Given the description of an element on the screen output the (x, y) to click on. 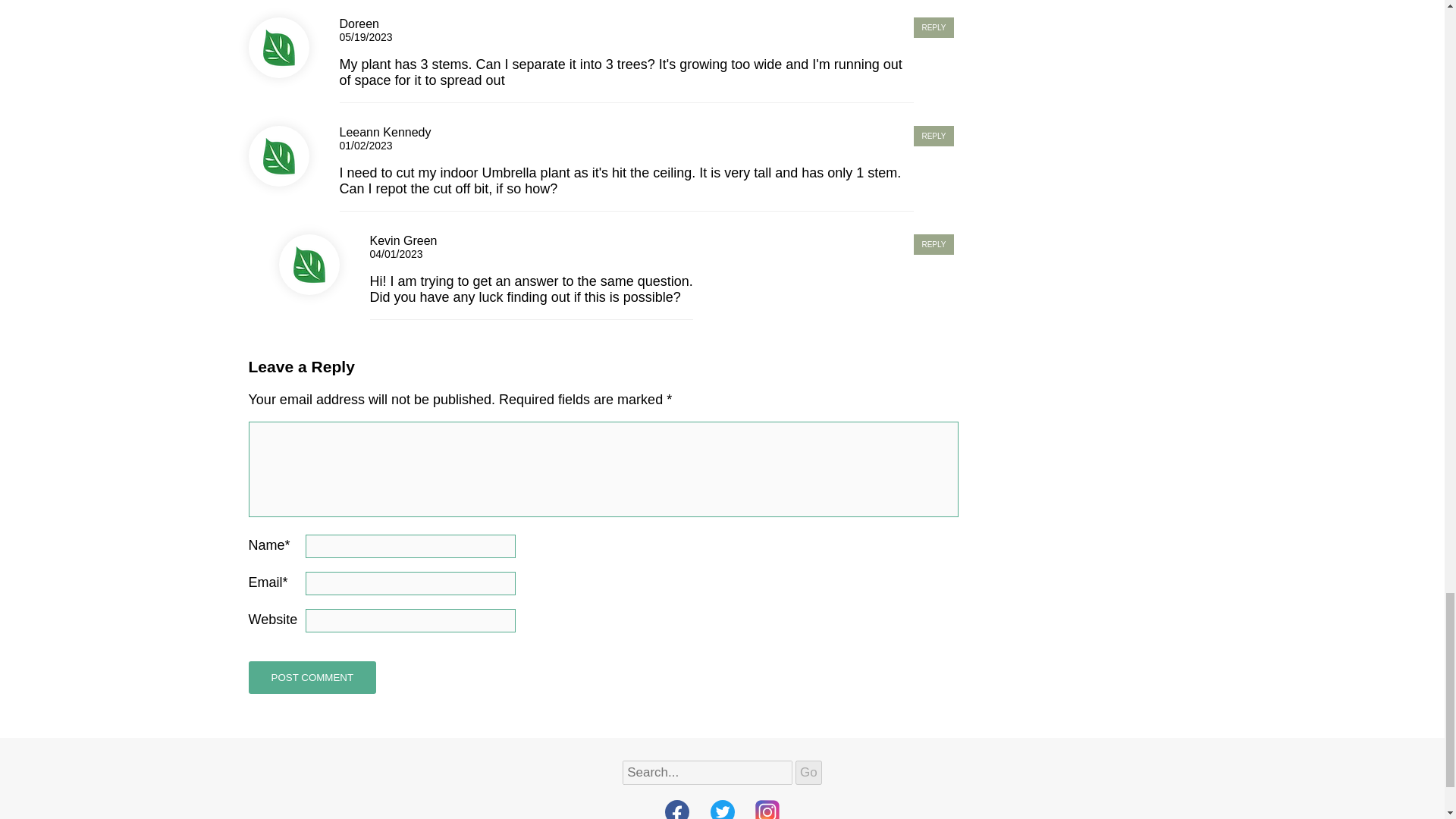
3 characters minimum (707, 772)
POST COMMENT (312, 676)
Go (808, 772)
REPLY (933, 136)
REPLY (933, 27)
POST COMMENT (312, 676)
REPLY (933, 244)
